Given the description of an element on the screen output the (x, y) to click on. 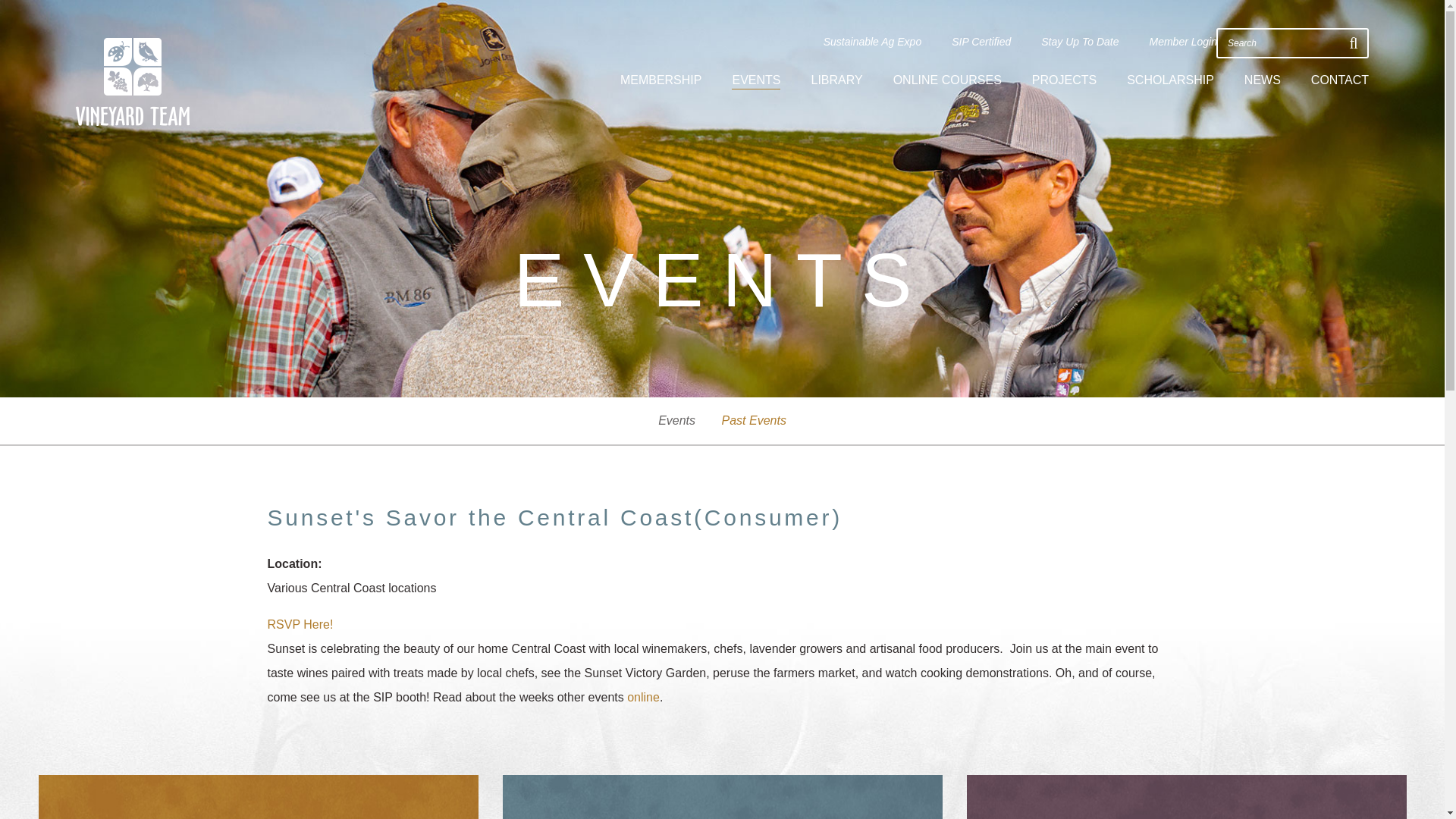
SIP Certified (981, 42)
NEWS (1262, 80)
LIBRARY (835, 80)
PROJECTS (1064, 80)
Member Login (1183, 42)
Search (1282, 42)
CONTACT (1339, 80)
Sustainable Ag Expo (872, 42)
SCHOLARSHIP (1170, 80)
ONLINE COURSES (947, 80)
